Given the description of an element on the screen output the (x, y) to click on. 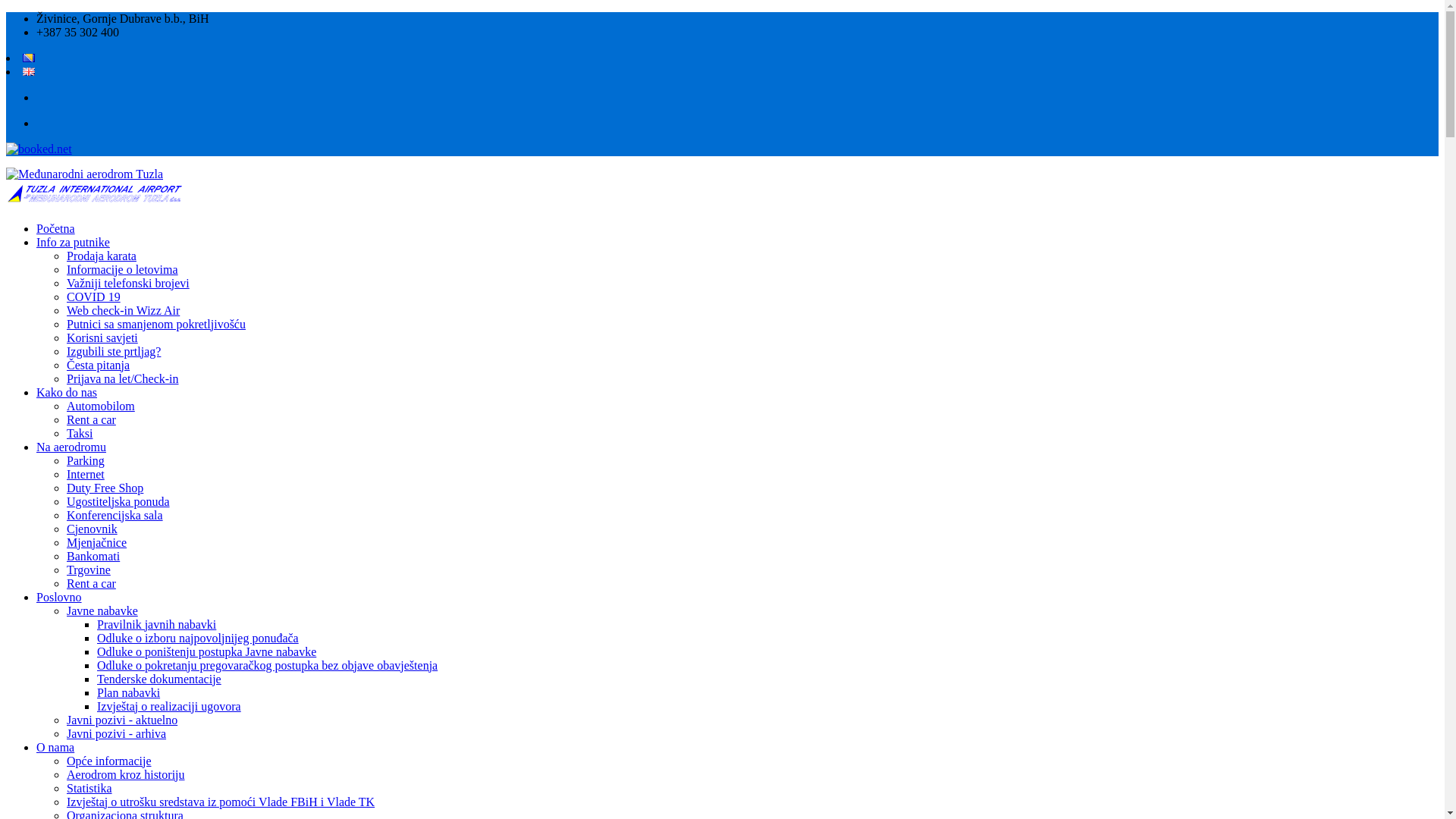
Duty Free Shop Element type: text (104, 487)
Tenderske dokumentacije Element type: text (159, 678)
Prijava na let/Check-in Element type: text (122, 378)
Javni pozivi - arhiva Element type: text (116, 733)
Statistika Element type: text (89, 787)
Trgovine Element type: text (88, 569)
Bankomati Element type: text (92, 555)
Rent a car Element type: text (91, 419)
Korisni savjeti Element type: text (102, 337)
Plan nabavki Element type: text (128, 692)
Javne nabavke Element type: text (102, 610)
Informacije o letovima Element type: text (122, 269)
O nama Element type: text (55, 746)
Rent a car Element type: text (91, 583)
Javni pozivi - aktuelno Element type: text (121, 719)
Konferencijska sala Element type: text (114, 514)
Poslovno Element type: text (58, 596)
Kako do nas Element type: text (66, 391)
Prodaja karata Element type: text (101, 255)
Taksi Element type: text (79, 432)
Cjenovnik Element type: text (91, 528)
Web check-in Wizz Air Element type: text (122, 310)
Izgubili ste prtljag? Element type: text (113, 351)
Automobilom Element type: text (100, 405)
COVID 19 Element type: text (93, 296)
Pravilnik javnih nabavki Element type: text (156, 624)
Internet Element type: text (85, 473)
Ugostiteljska ponuda Element type: text (117, 501)
Info za putnike Element type: text (72, 241)
Parking Element type: text (85, 460)
Na aerodromu Element type: text (71, 446)
Aerodrom kroz historiju Element type: text (125, 774)
